Given the description of an element on the screen output the (x, y) to click on. 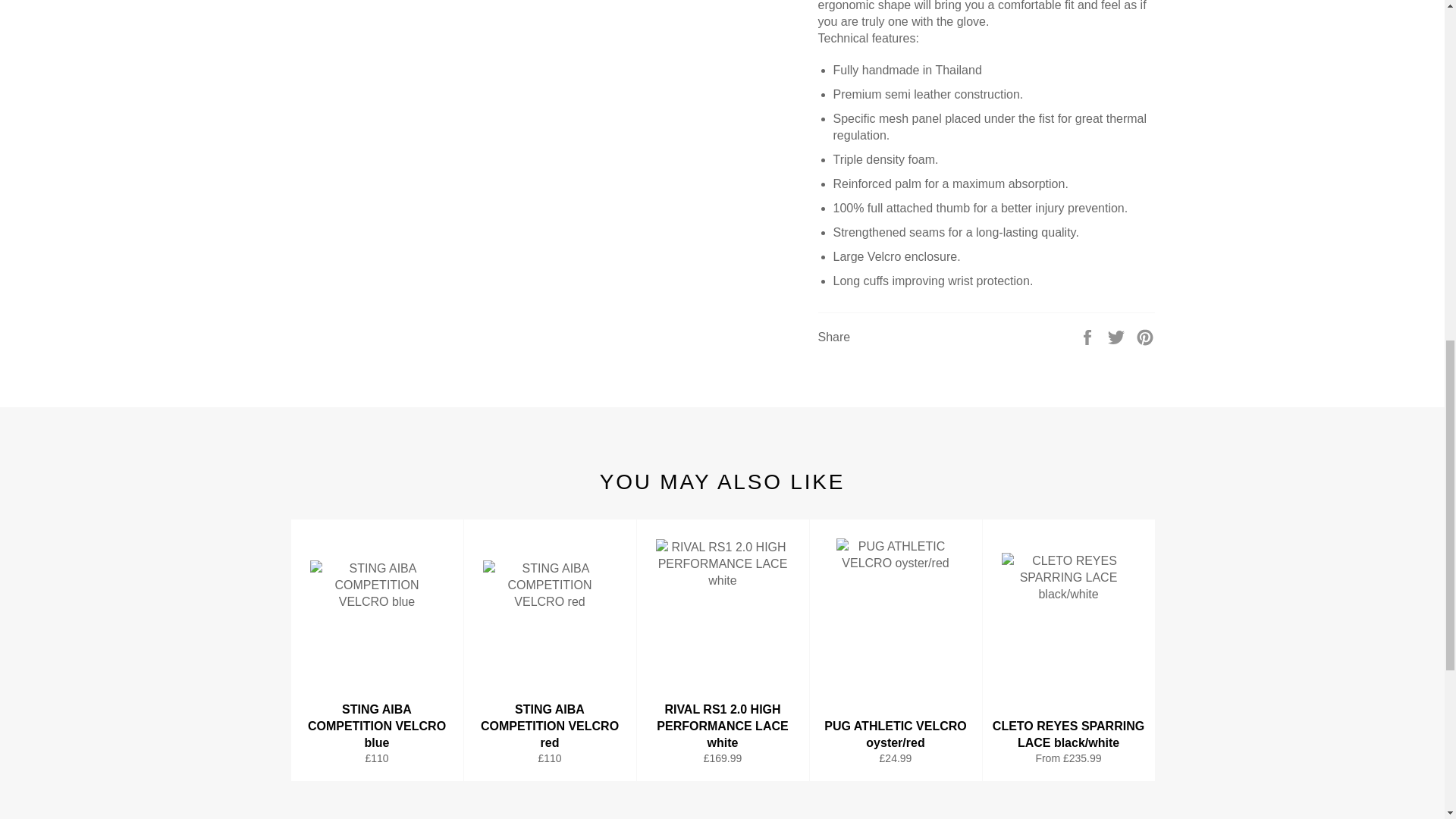
Pin on Pinterest (1144, 336)
Tweet on Twitter (1117, 336)
Share on Facebook (1088, 336)
